Given the description of an element on the screen output the (x, y) to click on. 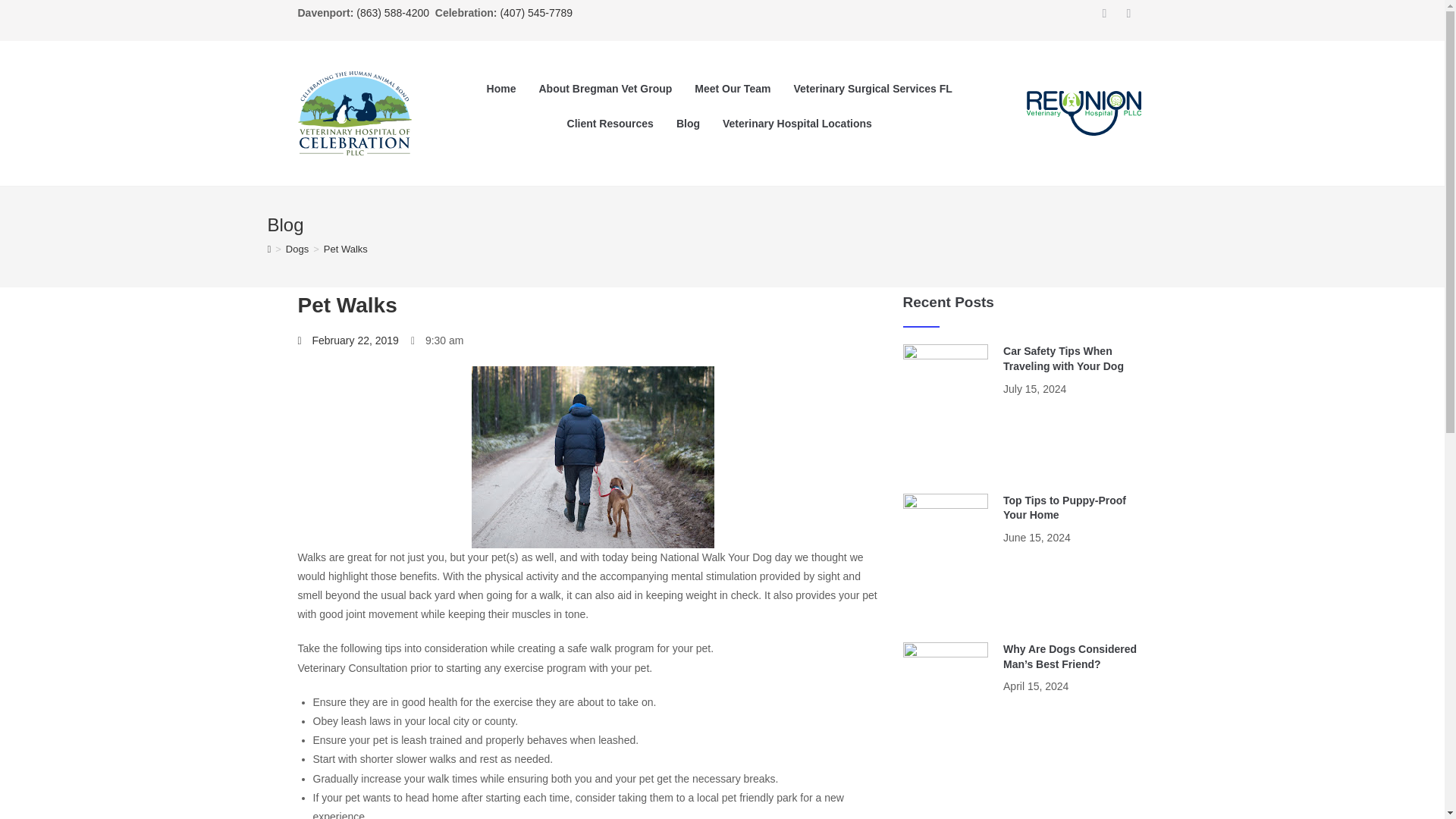
About Bregman Vet Group (605, 88)
Blog (688, 123)
Veterinary Hospital Locations (797, 123)
Meet Our Team (731, 88)
Home (501, 88)
Client Resources (610, 123)
Veterinary Surgical Services FL (871, 88)
